Given the description of an element on the screen output the (x, y) to click on. 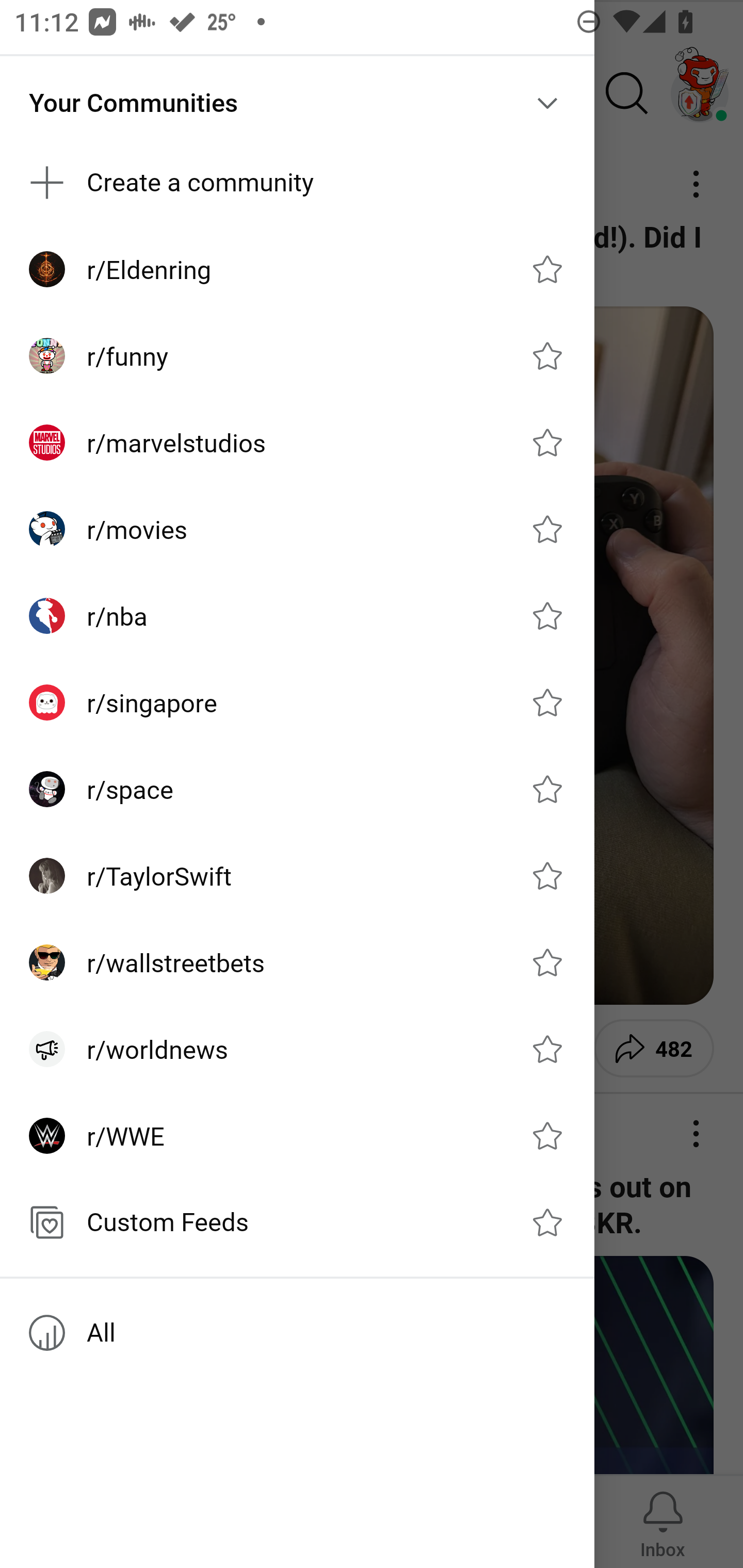
Your Communities (297, 103)
Create a community (297, 182)
r/Eldenring Favorite r/Eldenring (297, 268)
Favorite r/Eldenring (546, 268)
r/funny Favorite r/funny (297, 355)
Favorite r/funny (546, 355)
r/marvelstudios Favorite r/marvelstudios (297, 442)
Favorite r/marvelstudios (546, 442)
r/movies Favorite r/movies (297, 529)
Favorite r/movies (546, 529)
r/nba Favorite r/nba (297, 615)
Favorite r/nba (546, 615)
r/singapore Favorite r/singapore (297, 702)
Favorite r/singapore (546, 702)
r/space Favorite r/space (297, 789)
Favorite r/space (546, 789)
r/TaylorSwift Favorite r/TaylorSwift (297, 875)
Favorite r/TaylorSwift (546, 875)
r/wallstreetbets Favorite r/wallstreetbets (297, 961)
Favorite r/wallstreetbets (546, 961)
r/worldnews Favorite r/worldnews (297, 1048)
Favorite r/worldnews (546, 1048)
r/WWE Favorite r/WWE (297, 1135)
Favorite r/WWE (546, 1136)
Custom Feeds (297, 1222)
All (297, 1332)
